Given the description of an element on the screen output the (x, y) to click on. 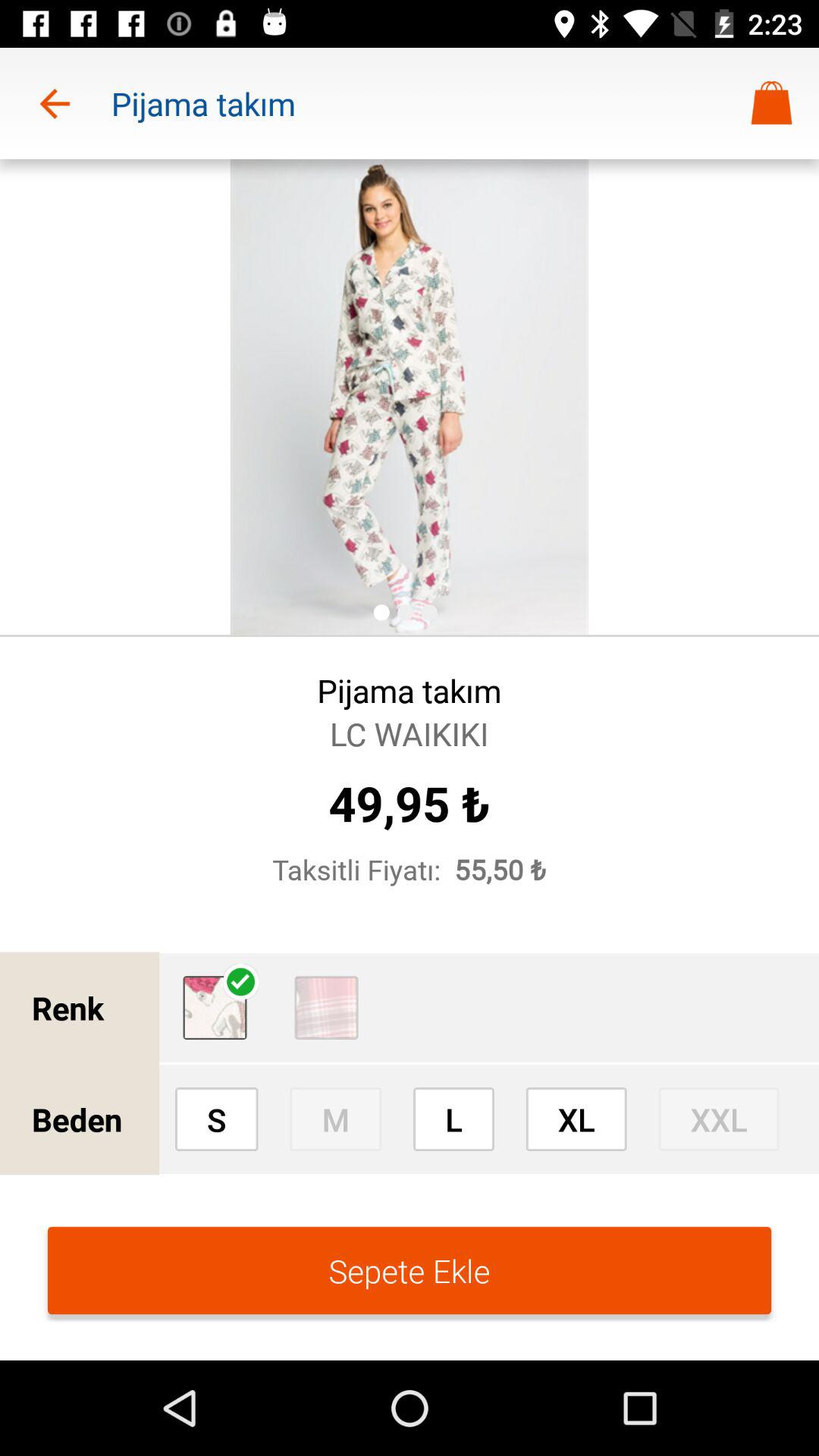
turn on item above sepete ekle (576, 1119)
